Given the description of an element on the screen output the (x, y) to click on. 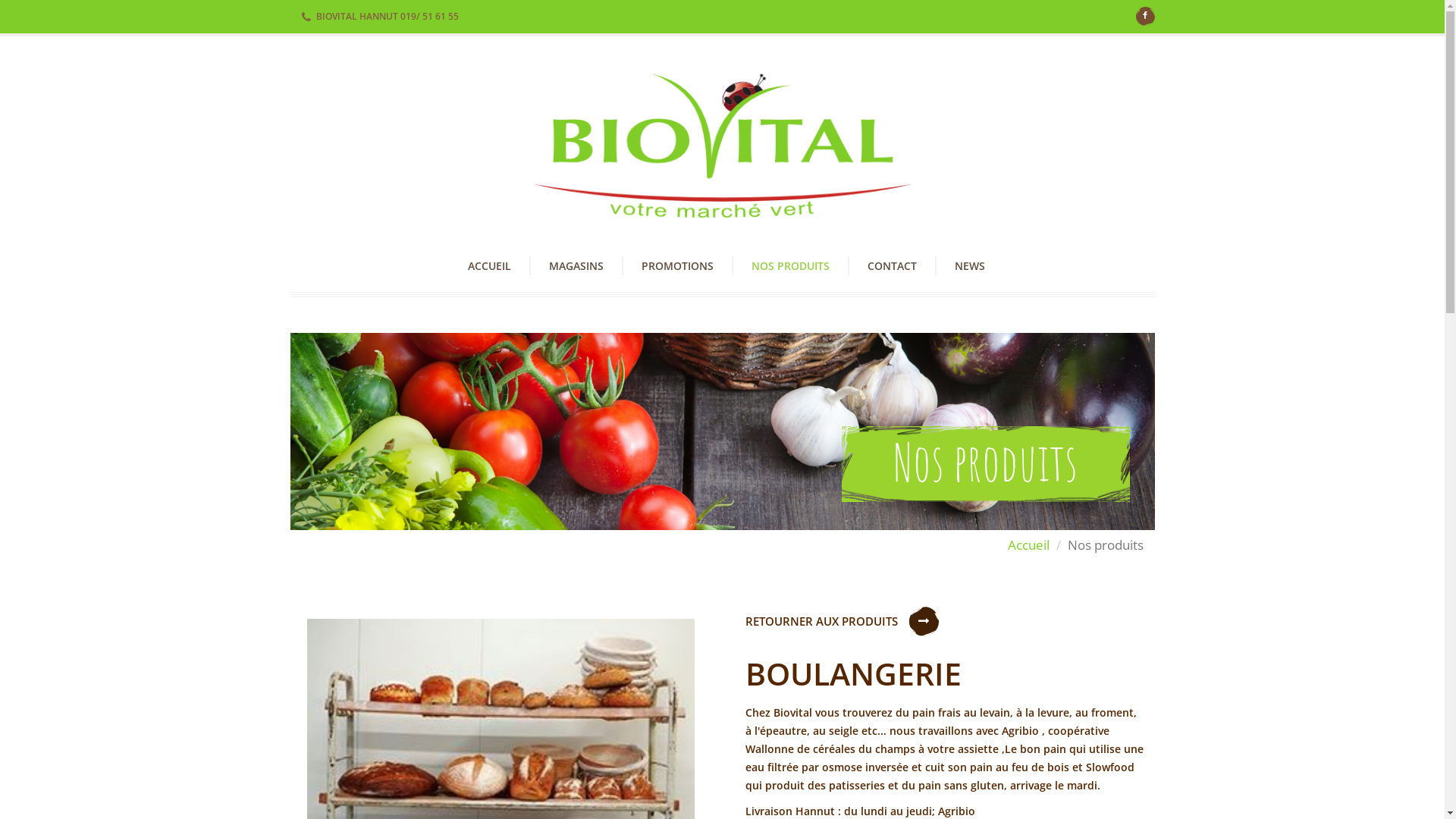
PROMOTIONS Element type: text (677, 266)
NOS PRODUITS Element type: text (789, 266)
RETOURNER AUX PRODUITS Element type: text (826, 620)
ACCUEIL Element type: text (497, 266)
CONTACT Element type: text (892, 266)
NEWS Element type: text (959, 266)
Accueil Element type: text (1027, 544)
MAGASINS Element type: text (575, 266)
019/ 51 61 55 Element type: text (429, 15)
